Given the description of an element on the screen output the (x, y) to click on. 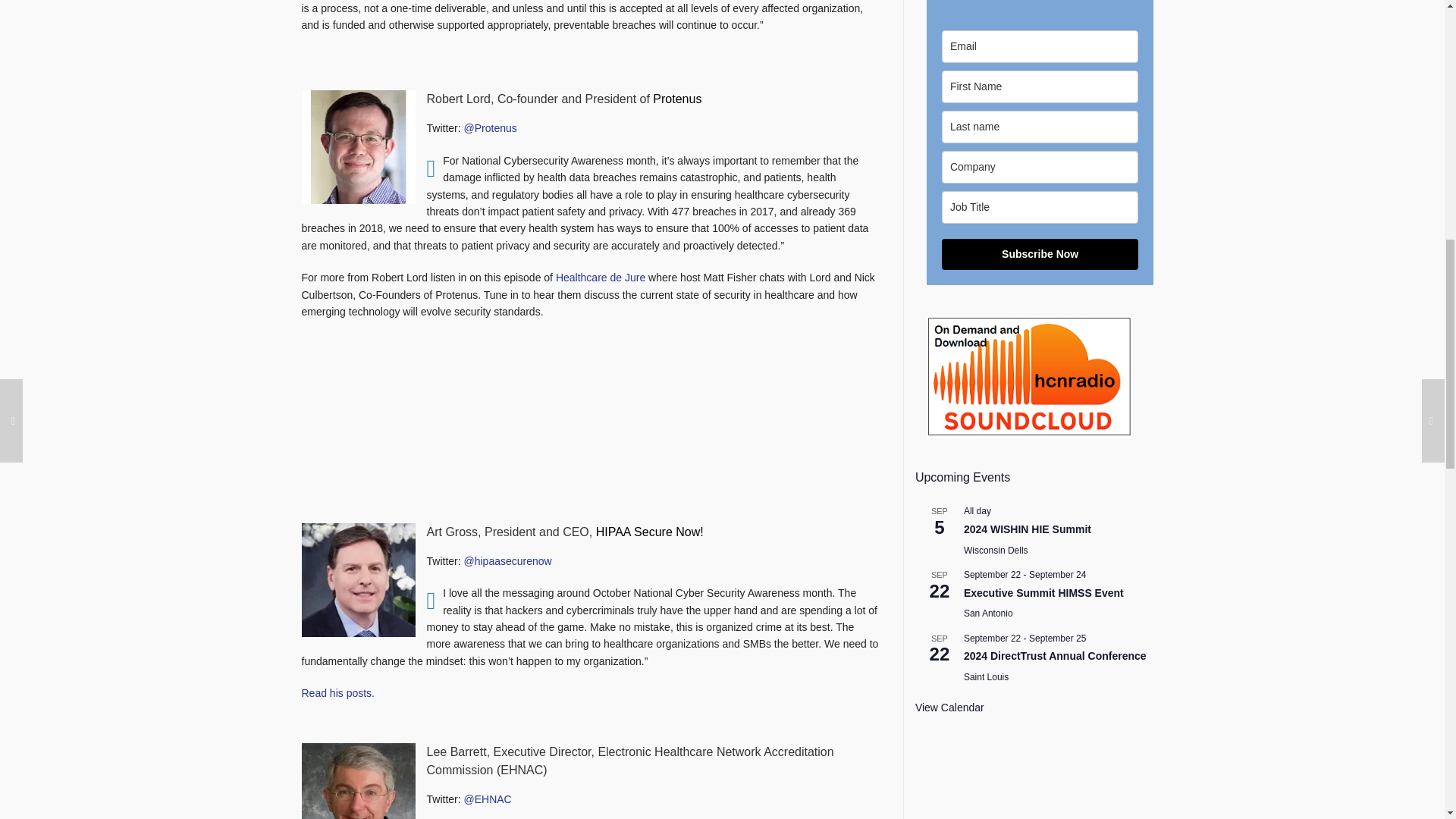
Executive Summit HIMSS Event (1043, 593)
2024 WISHIN HIE Summit (1026, 529)
2024 DirectTrust Annual Conference (1055, 656)
